Given the description of an element on the screen output the (x, y) to click on. 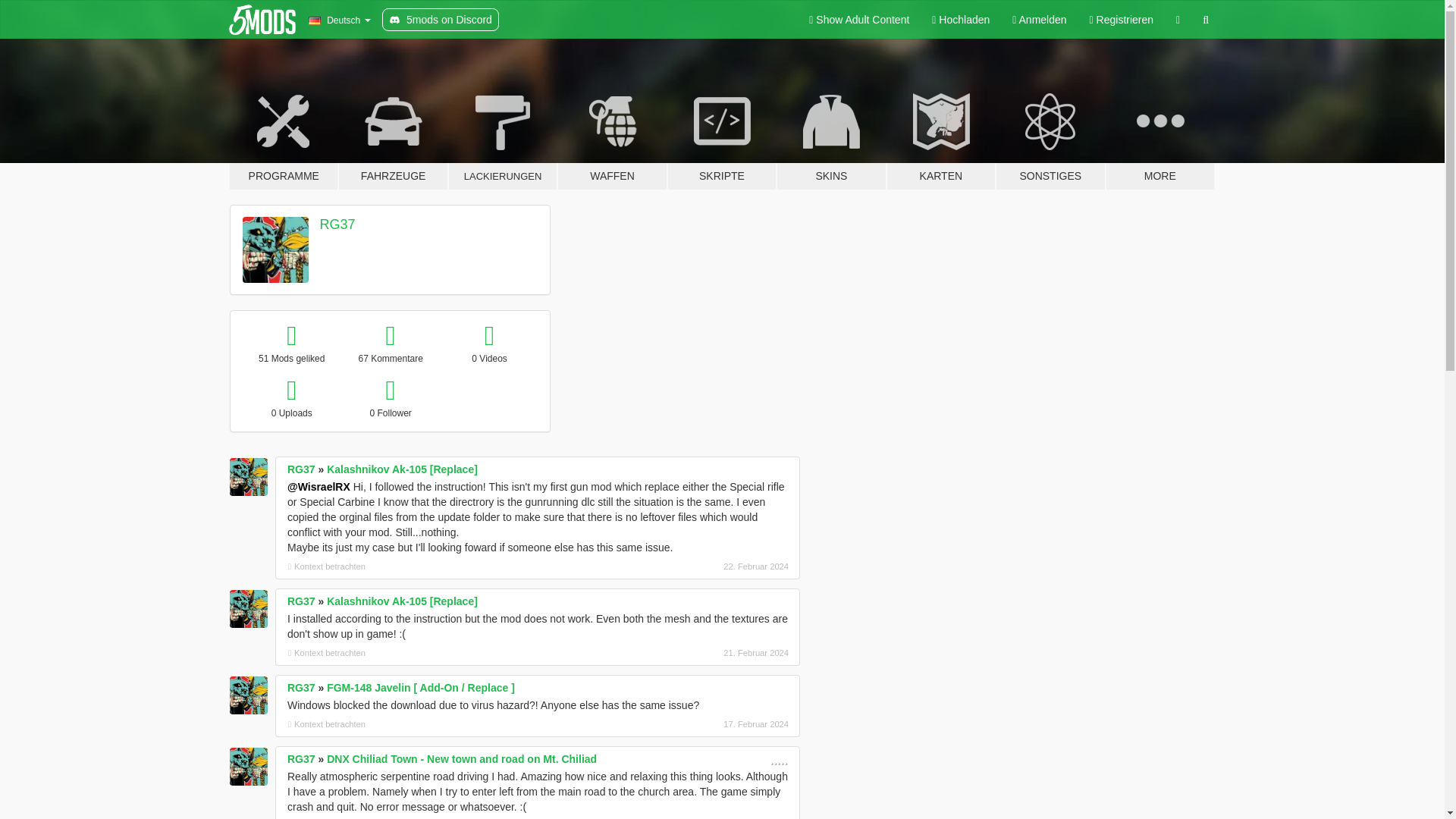
Light mode (858, 19)
  Deutsch (338, 19)
Donnerstag, 22. Februar 2024, 10:36 Uhr (708, 566)
Geil! (775, 759)
Mittwoch, 21. Februar 2024, 20:15 Uhr (708, 653)
Anmelden (1039, 19)
Registrieren (1122, 19)
Geil! (782, 759)
5mods on Discord (440, 19)
Geil! (772, 759)
Show Adult Content (858, 19)
Hochladen (960, 19)
Dark mode (1177, 19)
